Given the description of an element on the screen output the (x, y) to click on. 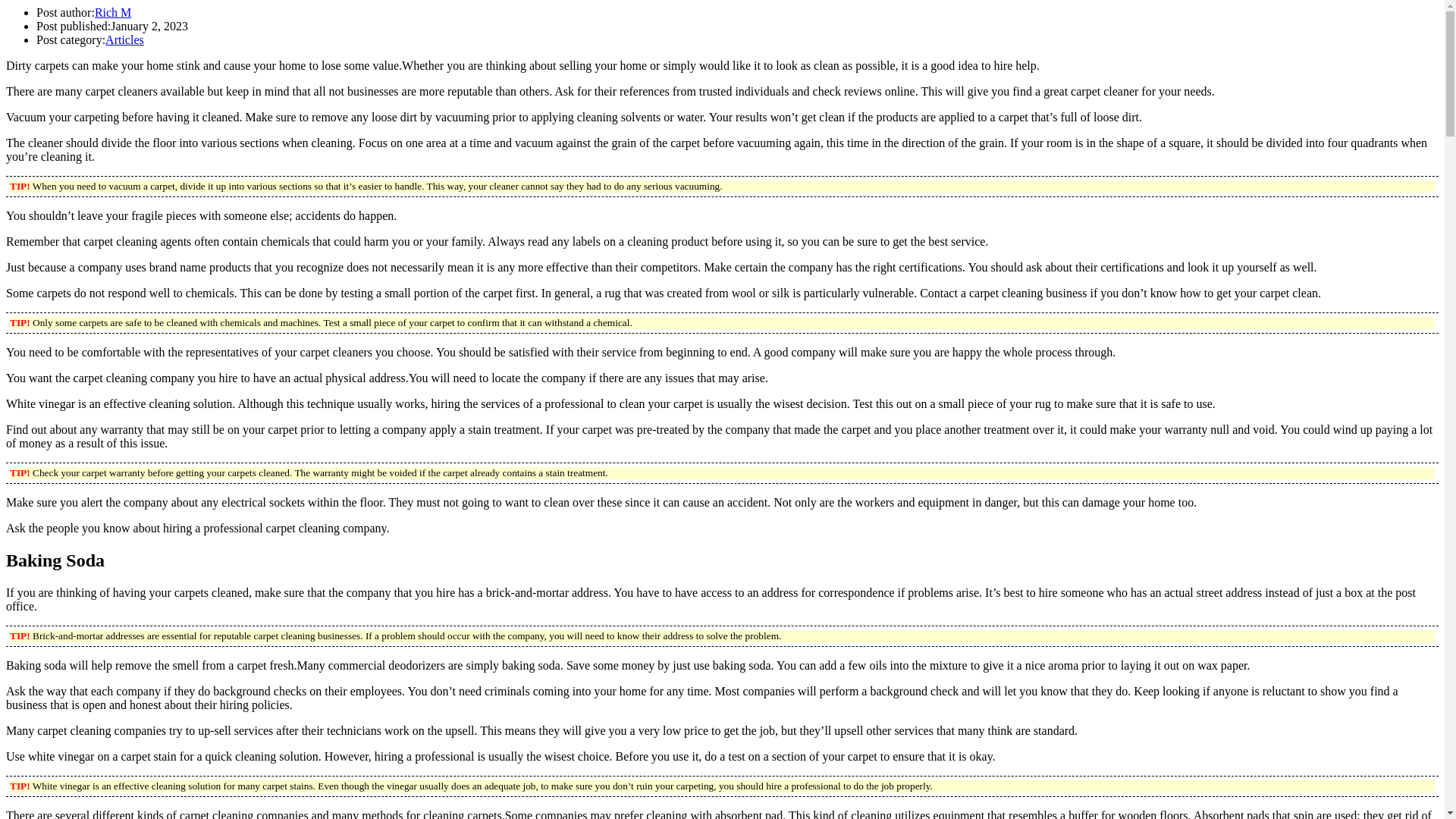
Rich M (112, 11)
Articles (124, 39)
Posts by Rich M (112, 11)
